Given the description of an element on the screen output the (x, y) to click on. 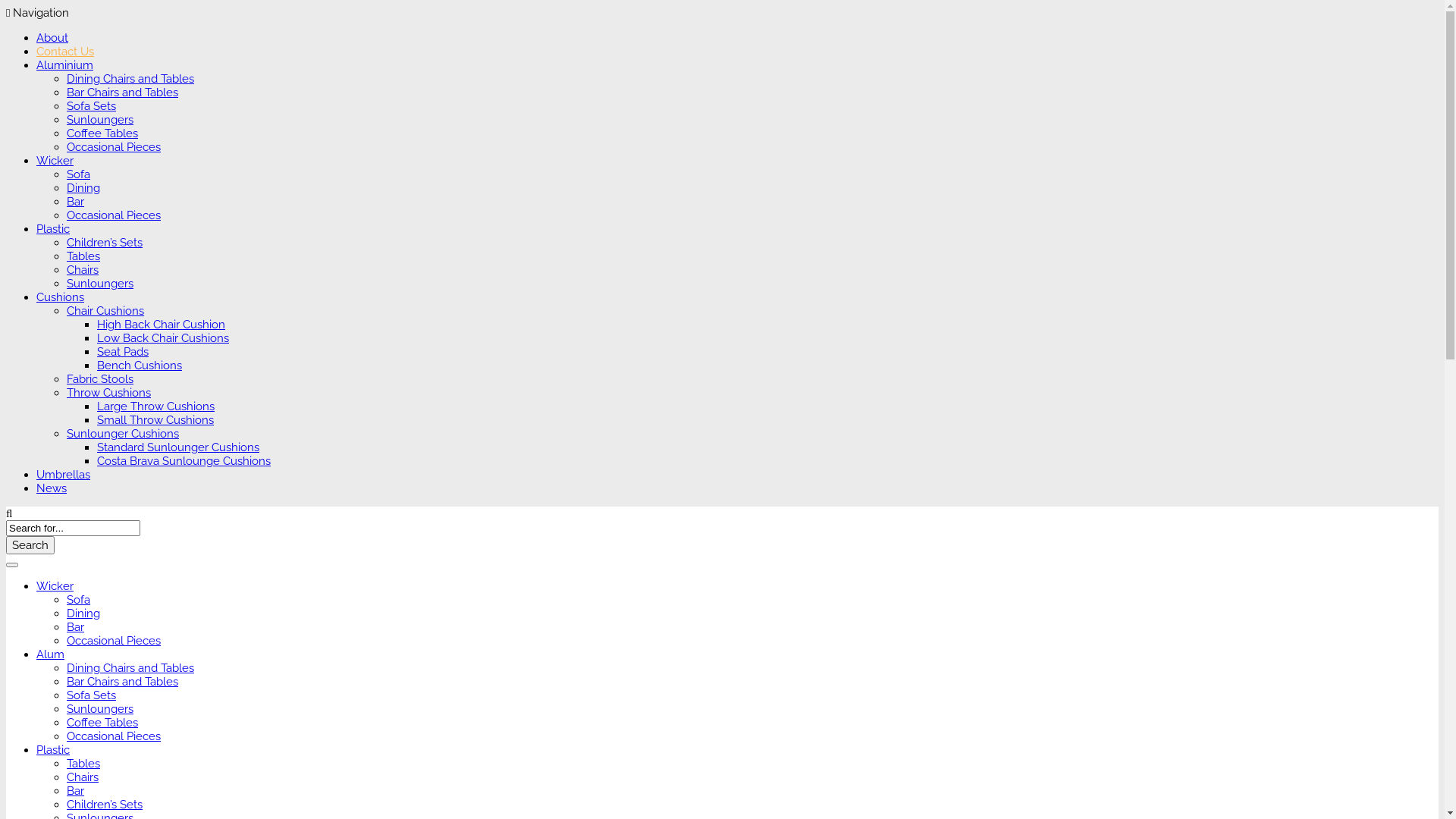
Coffee Tables Element type: text (102, 133)
About Element type: text (52, 37)
News Element type: text (51, 488)
Contact Us Element type: text (65, 51)
Large Throw Cushions Element type: text (155, 406)
Search Element type: text (30, 545)
Cushions Element type: text (60, 297)
Small Throw Cushions Element type: text (155, 419)
Costa Brava Sunlounge Cushions Element type: text (183, 460)
Bench Cushions Element type: text (139, 365)
Sofa Sets Element type: text (91, 695)
Bar Element type: text (75, 790)
High Back Chair Cushion Element type: text (161, 324)
Sofa Element type: text (78, 599)
Bar Chairs and Tables Element type: text (122, 681)
Dining Element type: text (83, 187)
Dining Chairs and Tables Element type: text (130, 667)
Coffee Tables Element type: text (102, 722)
Occasional Pieces Element type: text (113, 146)
Aluminium Element type: text (64, 65)
Tables Element type: text (83, 256)
Chairs Element type: text (82, 777)
Sunloungers Element type: text (99, 283)
Throw Cushions Element type: text (108, 392)
Dining Element type: text (83, 613)
Bar Element type: text (75, 626)
Plastic Element type: text (52, 228)
Sunlounger Cushions Element type: text (122, 433)
Chair Cushions Element type: text (105, 310)
Seat Pads Element type: text (122, 351)
Sofa Element type: text (78, 174)
Bar Element type: text (75, 201)
Occasional Pieces Element type: text (113, 215)
Alum Element type: text (50, 654)
Chairs Element type: text (82, 269)
Fabric Stools Element type: text (99, 378)
Standard Sunlounger Cushions Element type: text (178, 447)
Dining Chairs and Tables Element type: text (130, 78)
Umbrellas Element type: text (63, 474)
Occasional Pieces Element type: text (113, 736)
Low Back Chair Cushions Element type: text (163, 338)
Bar Chairs and Tables Element type: text (122, 92)
Tables Element type: text (83, 763)
Sofa Sets Element type: text (91, 105)
Sunloungers Element type: text (99, 119)
Wicker Element type: text (54, 586)
Sunloungers Element type: text (99, 708)
Occasional Pieces Element type: text (113, 640)
Wicker Element type: text (54, 160)
Plastic Element type: text (52, 749)
